Given the description of an element on the screen output the (x, y) to click on. 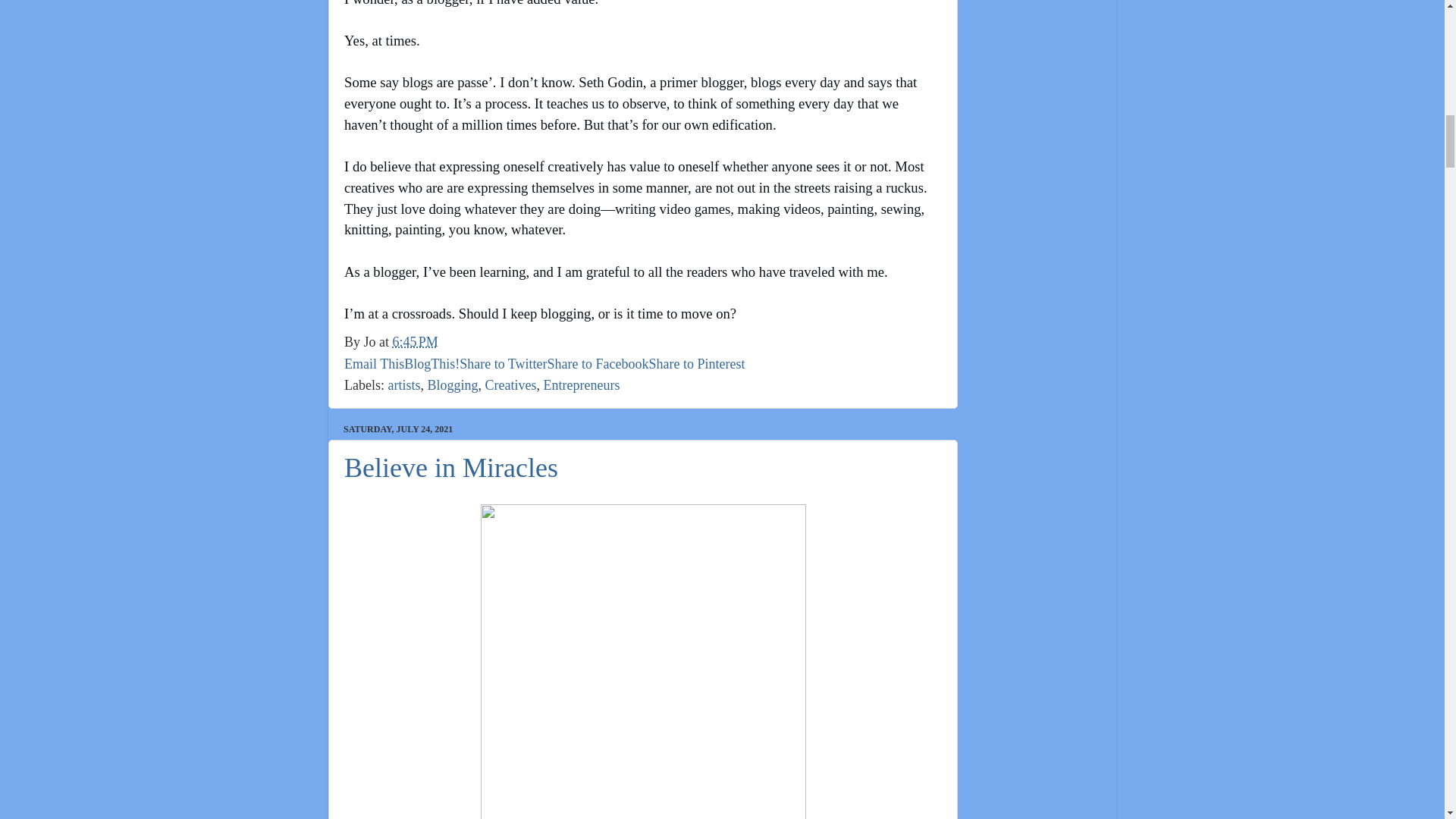
Believe in Miracles (450, 467)
BlogThis! (432, 363)
Entrepreneurs (581, 385)
Share to Facebook (598, 363)
Share to Pinterest (697, 363)
Blogging (451, 385)
Share to Twitter (503, 363)
BlogThis! (432, 363)
Share to Pinterest (697, 363)
Creatives (510, 385)
Share to Twitter (503, 363)
Share to Facebook (598, 363)
artists (403, 385)
Email This (373, 363)
permanent link (415, 341)
